Given the description of an element on the screen output the (x, y) to click on. 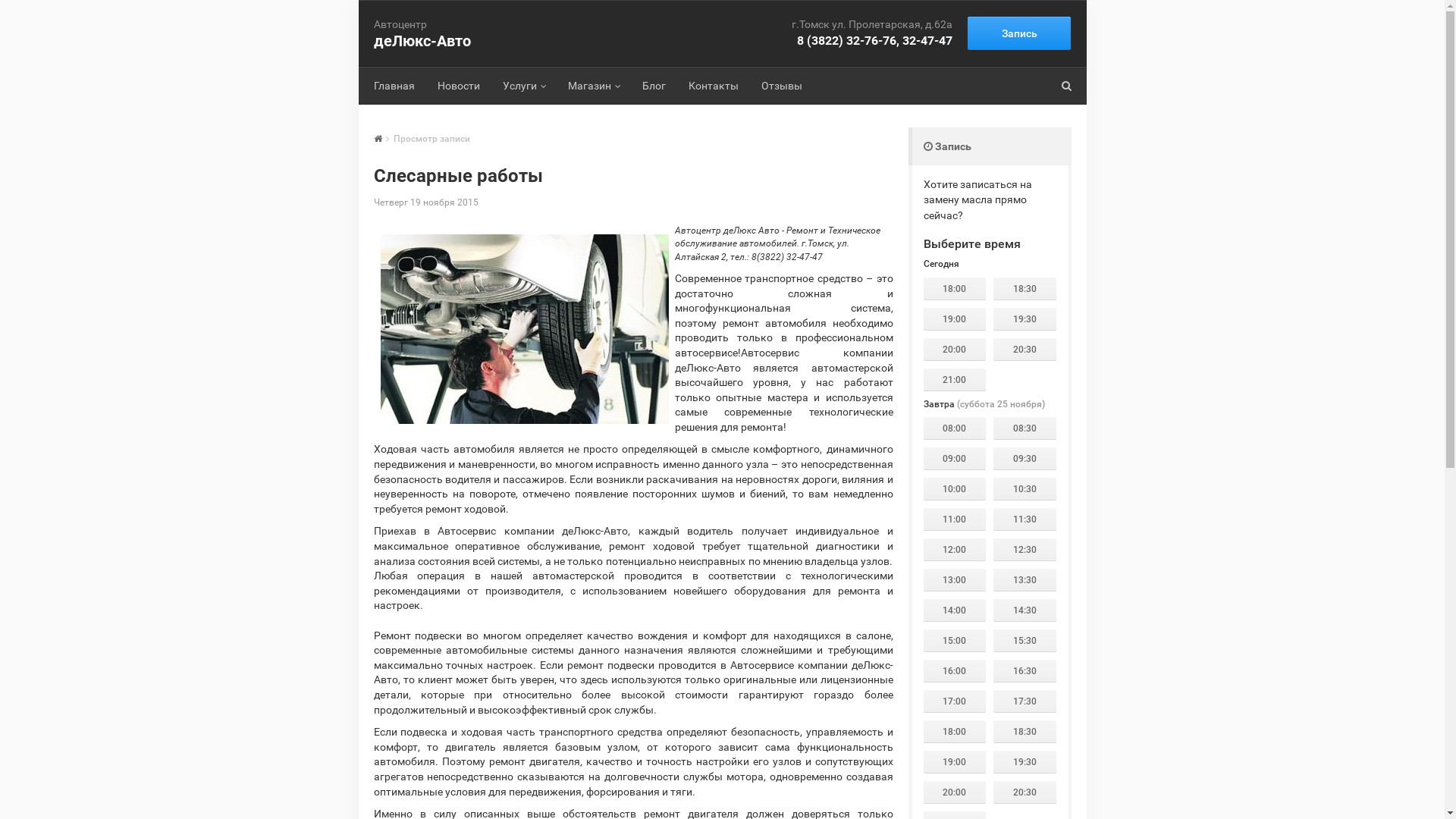
20:30 Element type: text (1024, 349)
15:00 Element type: text (954, 640)
20:00 Element type: text (954, 792)
14:00 Element type: text (954, 610)
21:00 Element type: text (954, 379)
10:30 Element type: text (1024, 488)
15:30 Element type: text (1024, 640)
14:30 Element type: text (1024, 610)
19:00 Element type: text (954, 318)
10:00 Element type: text (954, 488)
11:00 Element type: text (954, 519)
17:30 Element type: text (1024, 701)
19:30 Element type: text (1024, 318)
11:30 Element type: text (1024, 519)
20:00 Element type: text (954, 349)
08:30 Element type: text (1024, 428)
09:00 Element type: text (954, 458)
18:00 Element type: text (954, 731)
08:00 Element type: text (954, 428)
13:30 Element type: text (1024, 579)
18:30 Element type: text (1024, 731)
17:00 Element type: text (954, 701)
18:00 Element type: text (954, 288)
09:30 Element type: text (1024, 458)
19:00 Element type: text (954, 761)
19:30 Element type: text (1024, 761)
13:00 Element type: text (954, 579)
18:30 Element type: text (1024, 288)
12:00 Element type: text (954, 549)
16:30 Element type: text (1024, 670)
16:00 Element type: text (954, 670)
20:30 Element type: text (1024, 792)
12:30 Element type: text (1024, 549)
